Given the description of an element on the screen output the (x, y) to click on. 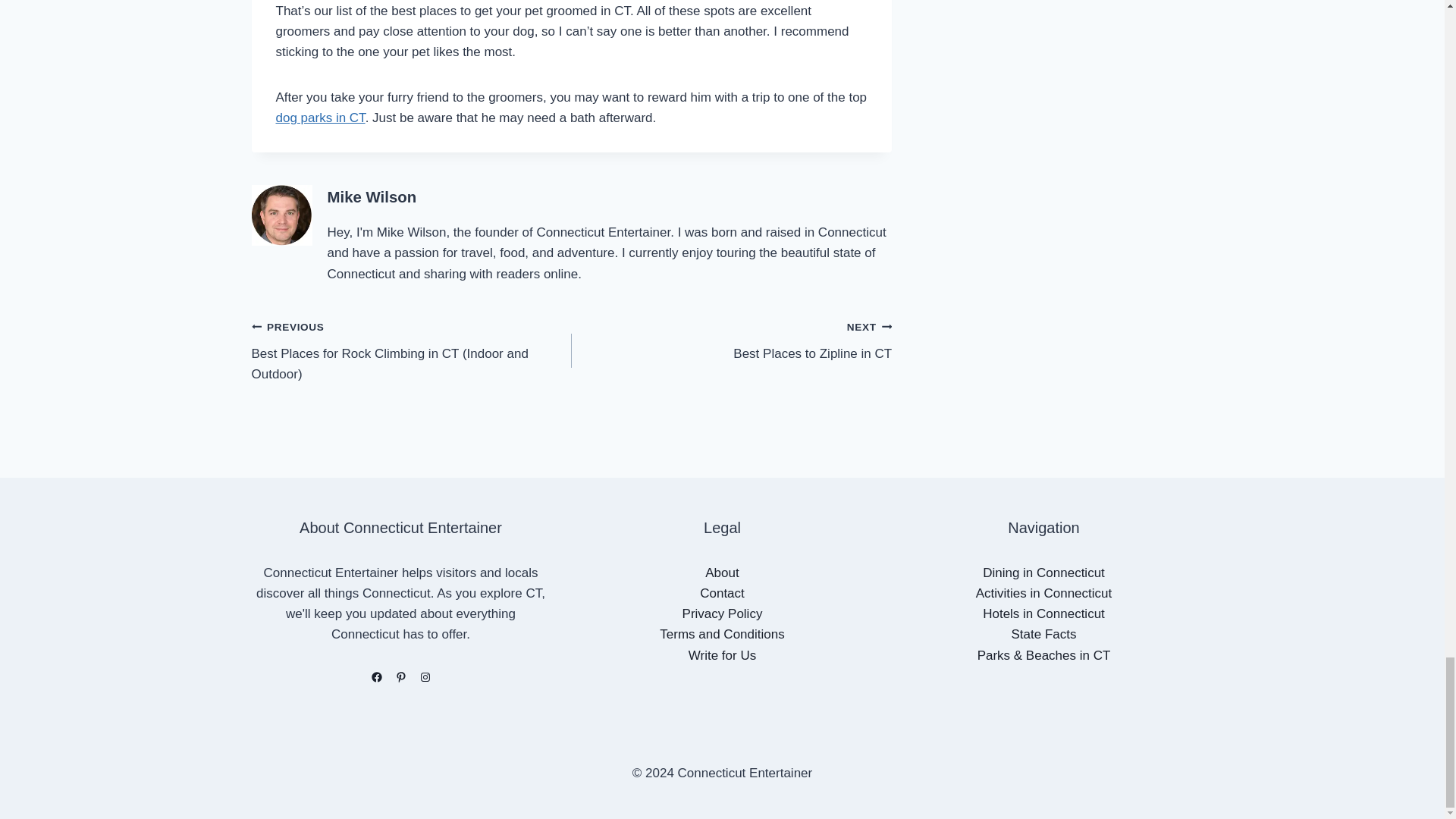
dog parks in CT (320, 117)
Posts by Mike Wilson (371, 197)
Activities in Connecticut (1043, 593)
Mike Wilson (371, 197)
Privacy Policy (722, 613)
Write for Us (721, 655)
Pinterest (400, 677)
Terms and Conditions (721, 634)
State Facts (1044, 634)
Dining in Connecticut (731, 339)
About (1043, 572)
Contact (721, 572)
Instagram (722, 593)
Hotels in Connecticut (423, 677)
